Given the description of an element on the screen output the (x, y) to click on. 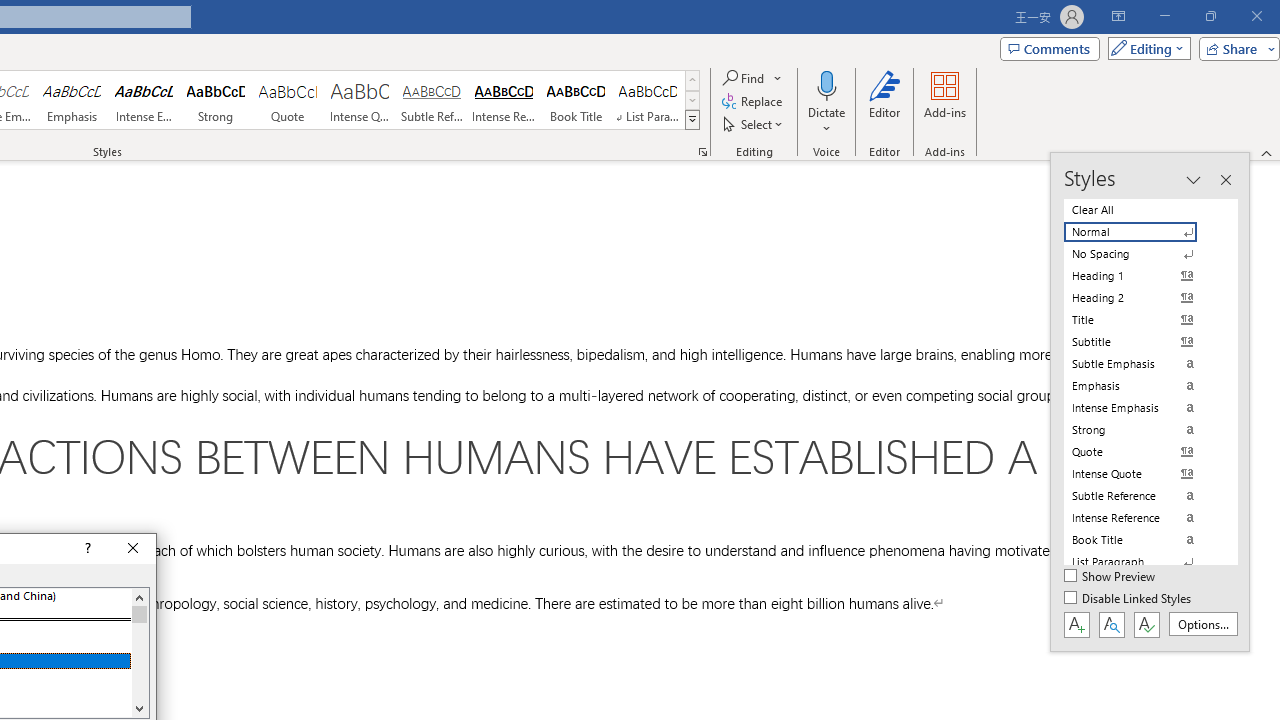
Context help (86, 548)
Close (133, 548)
Strong (216, 100)
AutomationID: 21 (139, 652)
Subtitle (1142, 341)
Page down (139, 660)
Restore Down (1210, 16)
Editor (885, 102)
Line up (139, 597)
More Options (826, 121)
Normal (1142, 232)
Minimize (1164, 16)
Disable Linked Styles (1129, 599)
Row up (692, 79)
Book Title (575, 100)
